Given the description of an element on the screen output the (x, y) to click on. 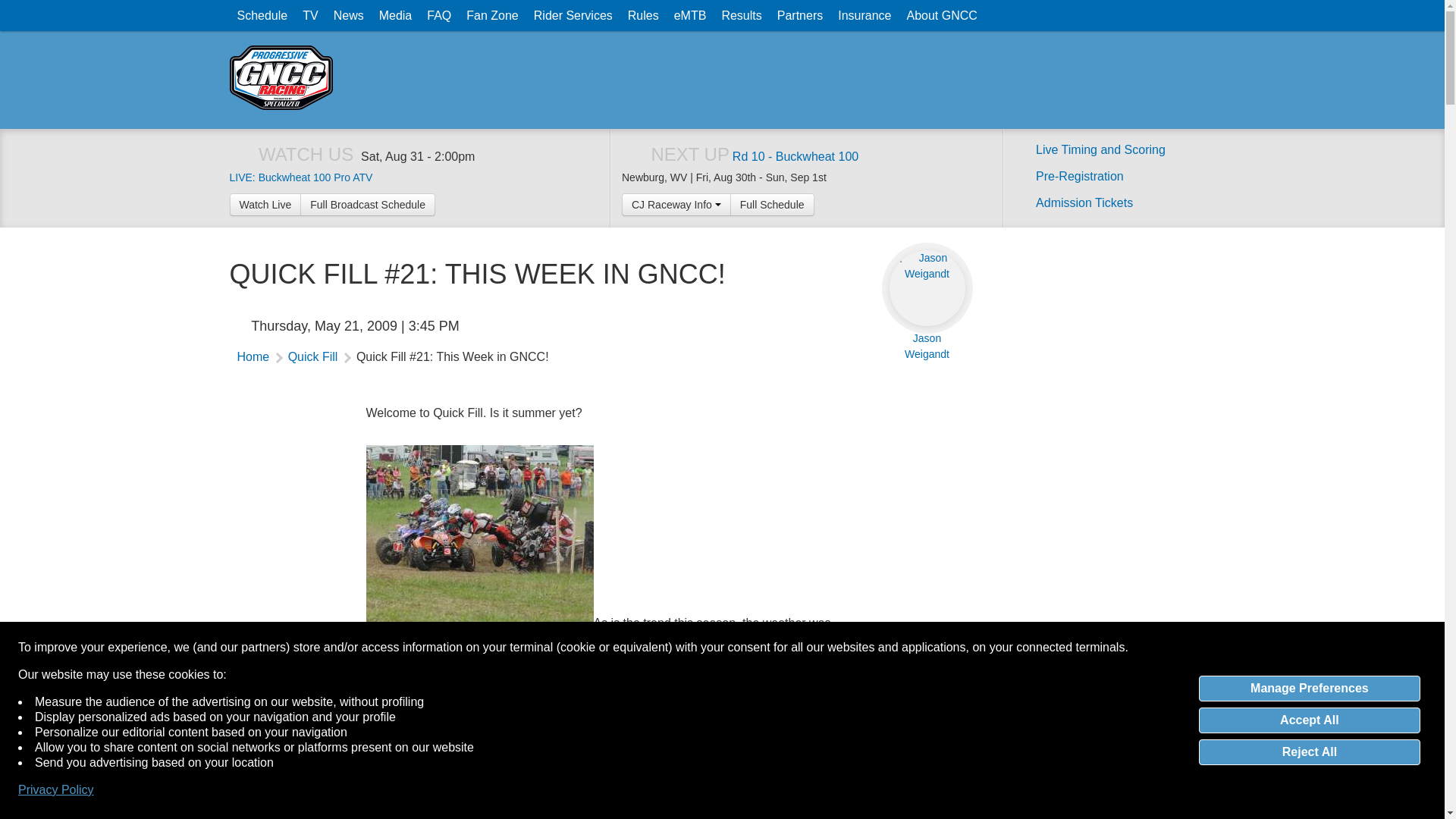
TV Schedule (309, 15)
Schedule (261, 15)
Media (395, 15)
News (348, 15)
Privacy Policy (55, 789)
Manage Preferences (1309, 688)
TV (309, 15)
Reject All (1309, 751)
Fan Zone (491, 15)
Accept All (1309, 720)
Upcoming GNCC Races (261, 15)
The latest news from GNCC Racing (348, 15)
FAQ (438, 15)
